Given the description of an element on the screen output the (x, y) to click on. 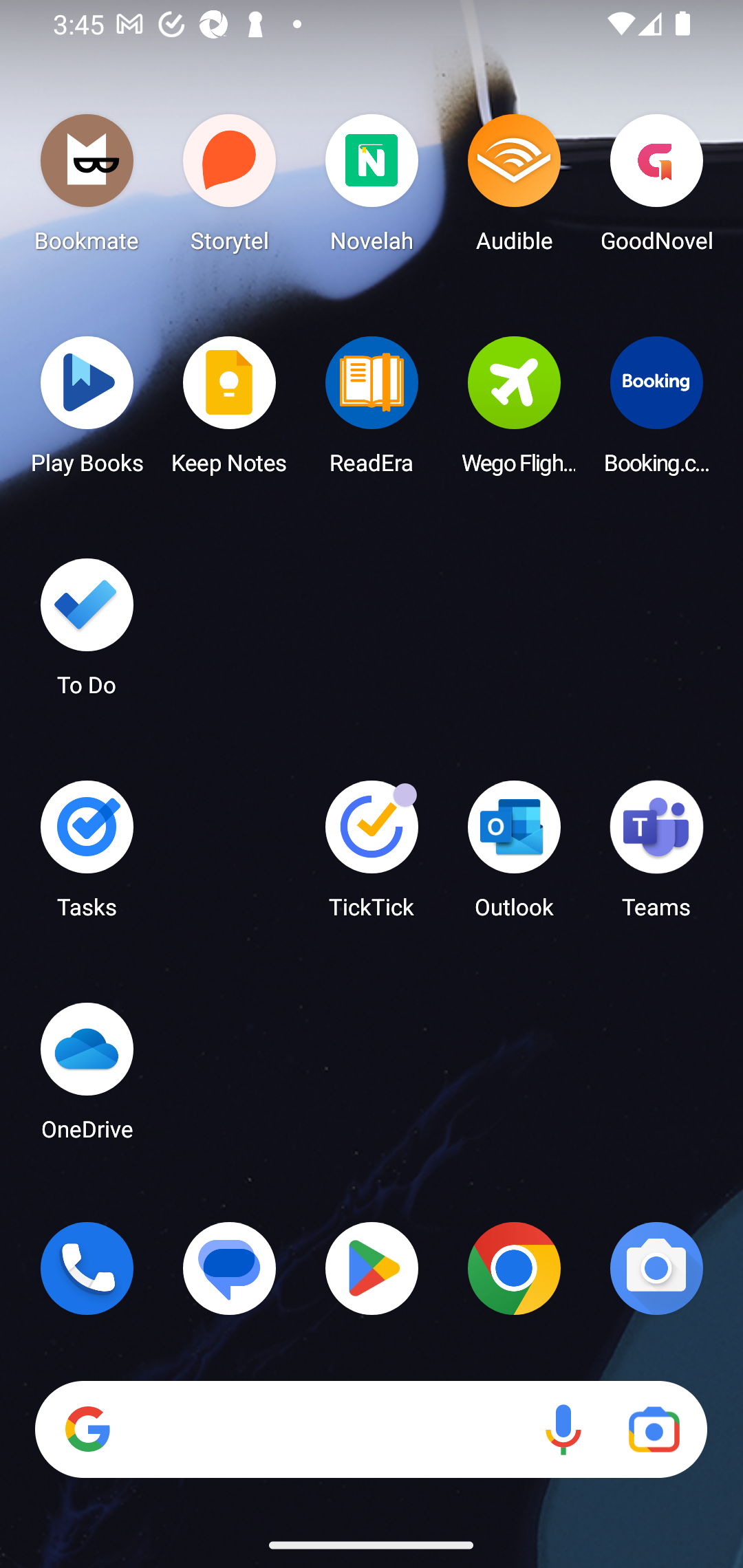
Bookmate (86, 188)
Storytel (229, 188)
Novelah (371, 188)
Audible (513, 188)
GoodNovel (656, 188)
Play Books (86, 410)
Keep Notes (229, 410)
ReadEra (371, 410)
Wego Flights & Hotels (513, 410)
Booking.com (656, 410)
To Do (86, 633)
Tasks (86, 854)
TickTick TickTick has 3 notifications (371, 854)
Outlook (513, 854)
Teams (656, 854)
OneDrive (86, 1076)
Phone (86, 1268)
Messages (229, 1268)
Play Store (371, 1268)
Chrome (513, 1268)
Camera (656, 1268)
Search Voice search Google Lens (370, 1429)
Voice search (562, 1429)
Google Lens (653, 1429)
